Given the description of an element on the screen output the (x, y) to click on. 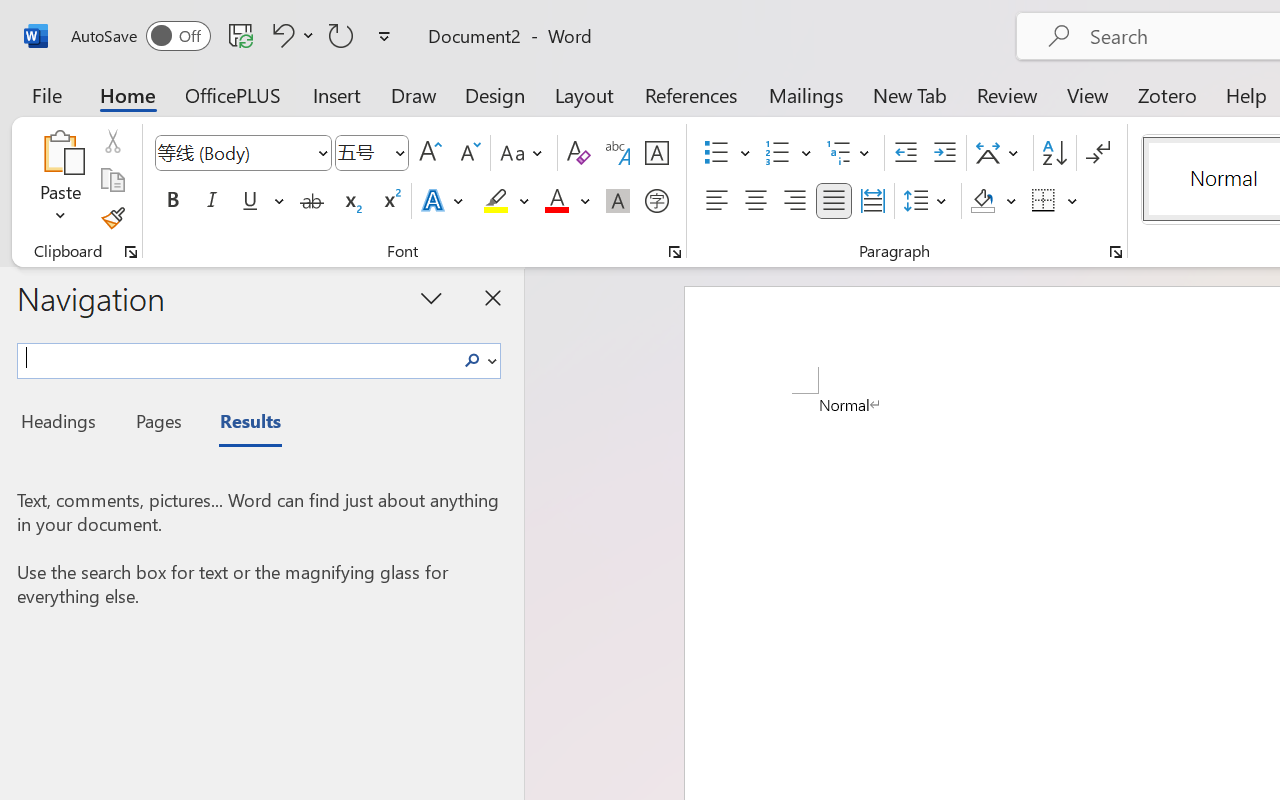
Font Color (567, 201)
Insert (337, 94)
Enclose Characters... (656, 201)
Font (242, 153)
Headings (64, 424)
Subscript (350, 201)
Grow Font (430, 153)
New Tab (909, 94)
Home (127, 94)
Increase Indent (944, 153)
Search (478, 360)
Numbering (778, 153)
Clear Formatting (578, 153)
Font Size (362, 152)
